Given the description of an element on the screen output the (x, y) to click on. 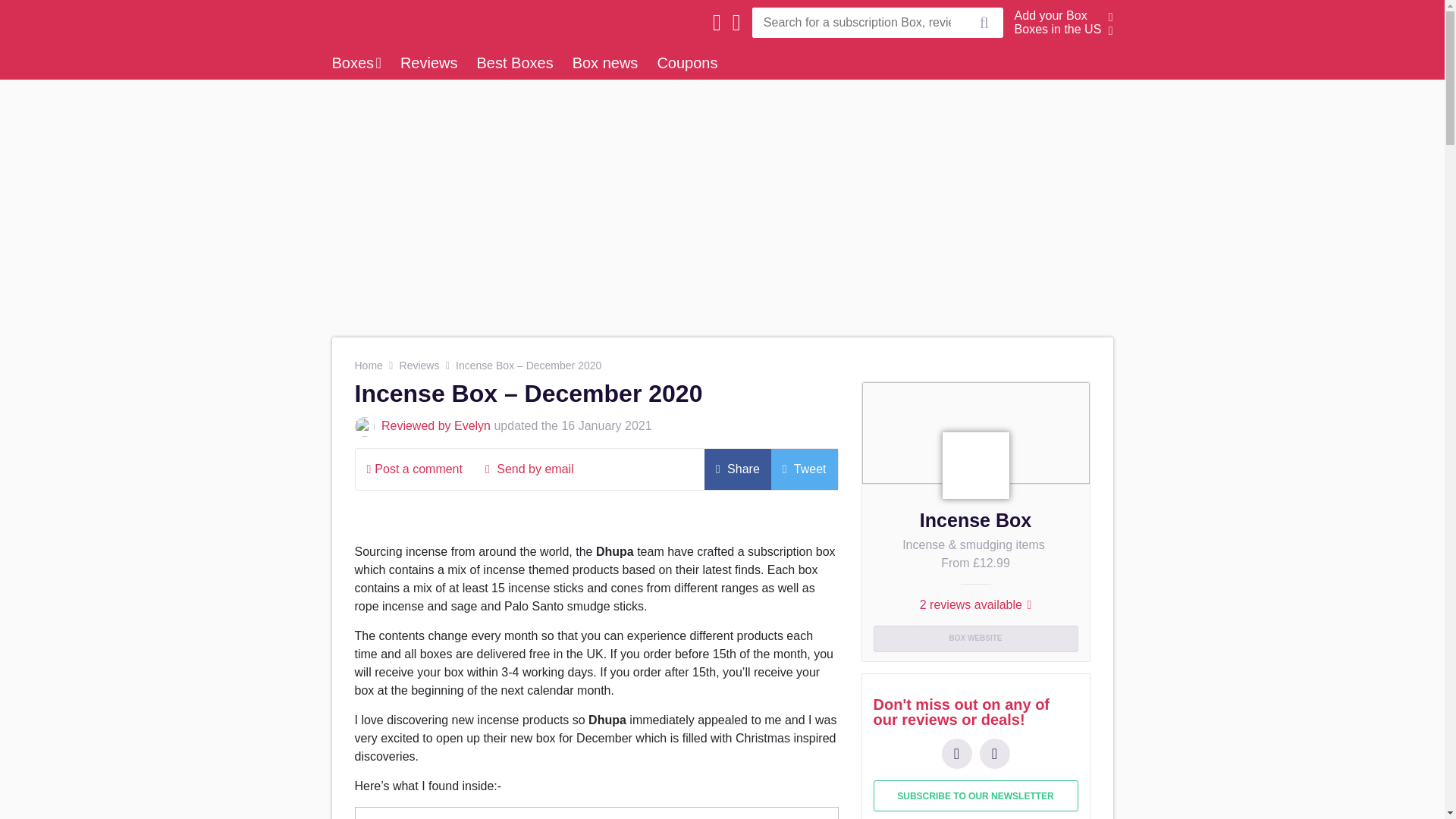
Boxes in the US (1058, 29)
Search for: (858, 22)
All Subscription Boxes UK (437, 9)
Boxes (356, 62)
Add your Box (1050, 15)
